Given the description of an element on the screen output the (x, y) to click on. 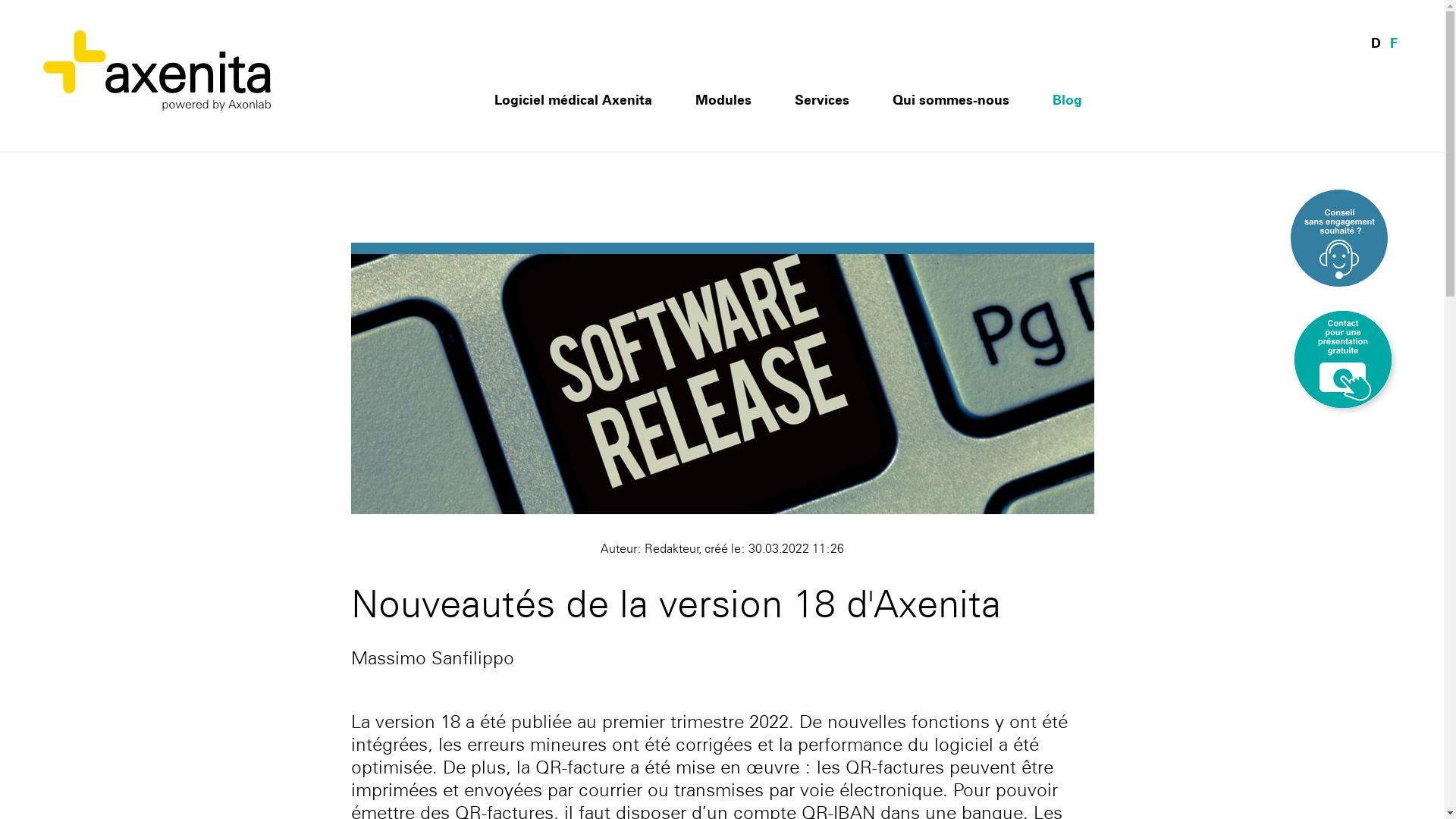
Modules Element type: text (723, 120)
Services Element type: text (821, 120)
D Element type: text (1375, 42)
Blog Element type: text (1067, 120)
Qui sommes-nous Element type: text (950, 120)
F Element type: text (1393, 42)
